Given the description of an element on the screen output the (x, y) to click on. 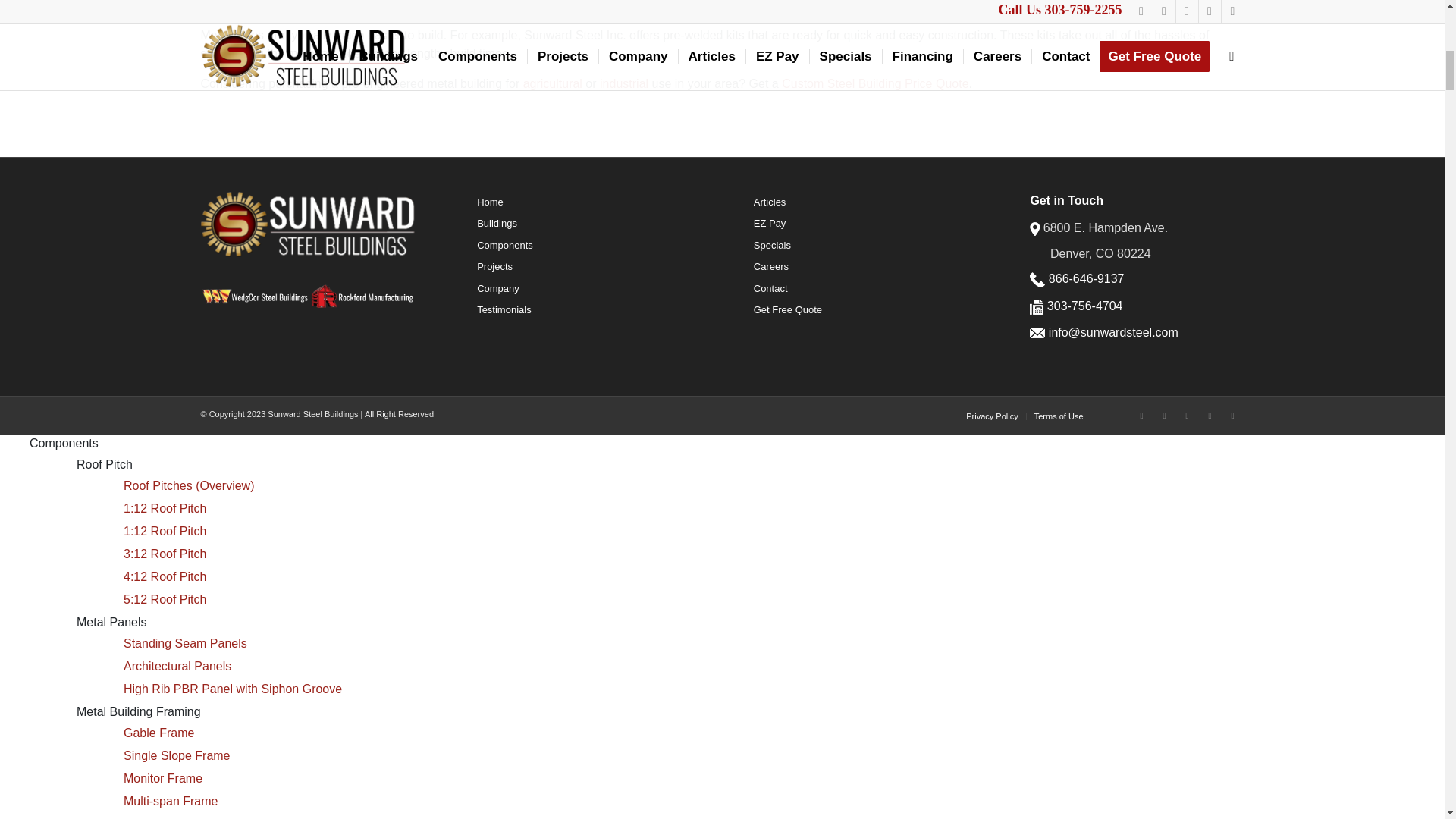
Twitter (1232, 415)
LinkedIn (1186, 415)
Youtube (1209, 415)
Instagram (1163, 415)
Facebook (1141, 415)
